Given the description of an element on the screen output the (x, y) to click on. 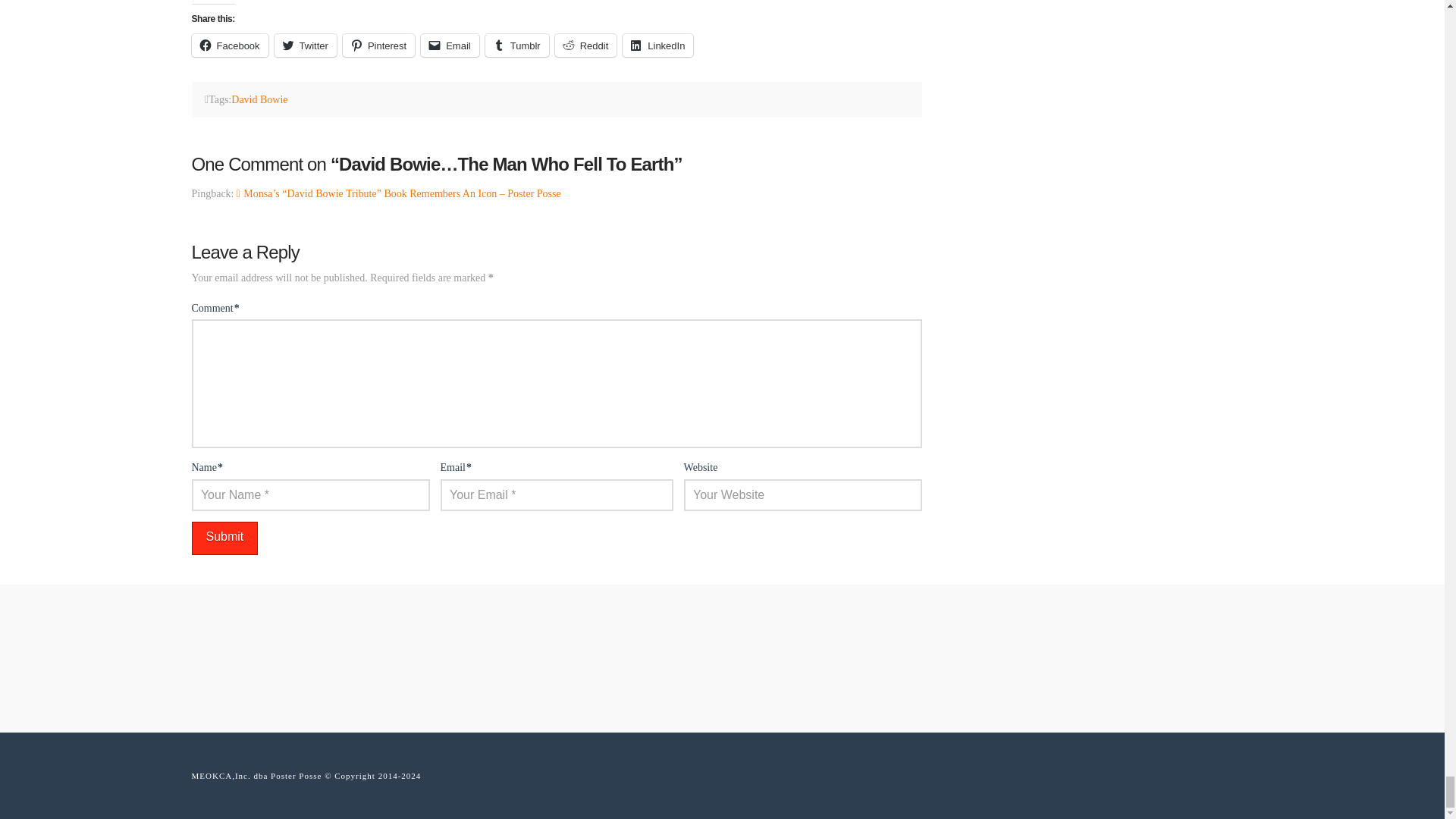
Click to share on Facebook (228, 45)
Click to share on Tumblr (516, 45)
Submit (223, 538)
Click to share on Twitter (305, 45)
Click to share on Reddit (585, 45)
Click to email a link to a friend (449, 45)
Click to share on LinkedIn (658, 45)
Click to share on Pinterest (378, 45)
